Given the description of an element on the screen output the (x, y) to click on. 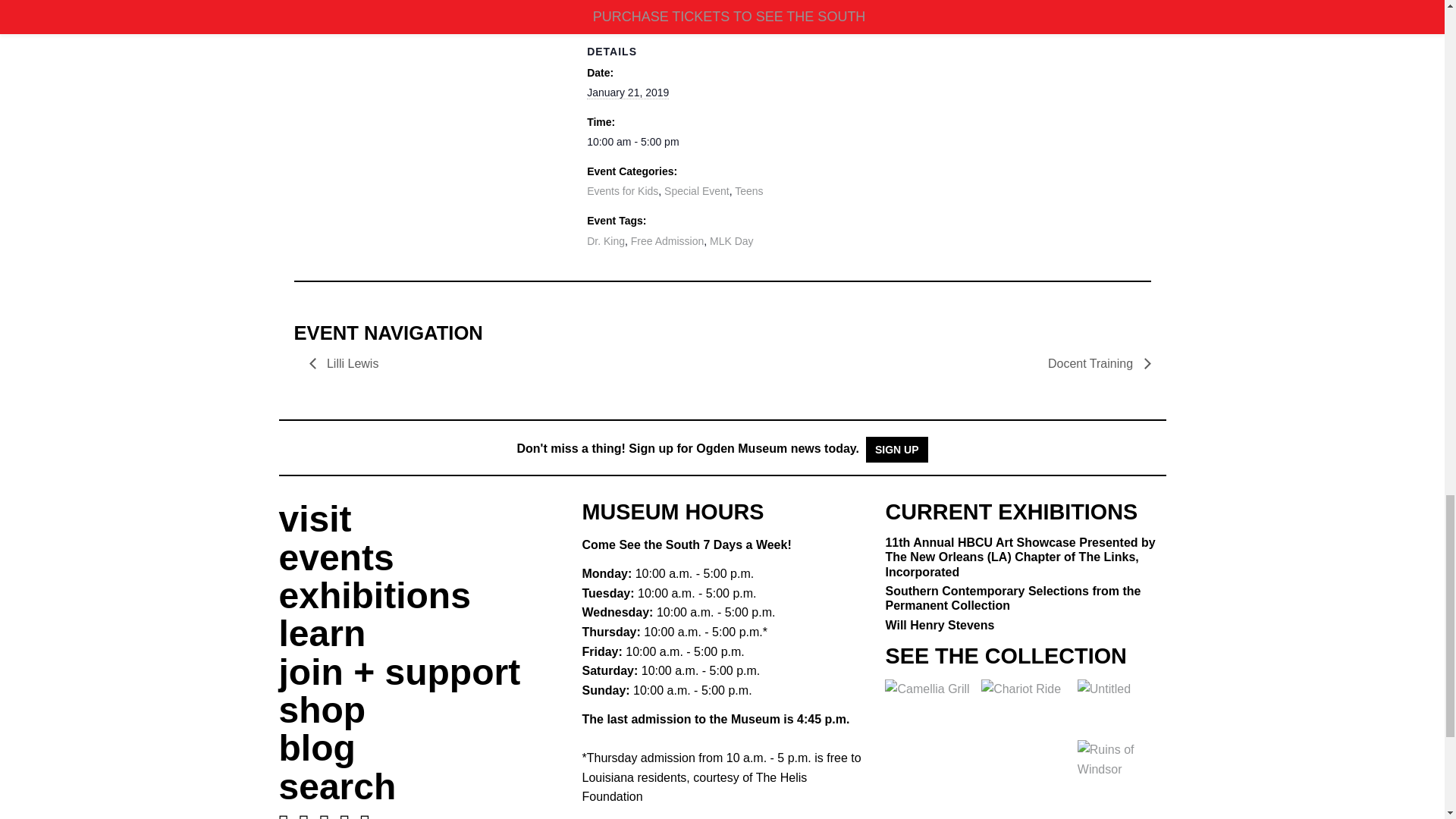
2019-01-21 (859, 141)
2019-01-21 (627, 92)
